Given the description of an element on the screen output the (x, y) to click on. 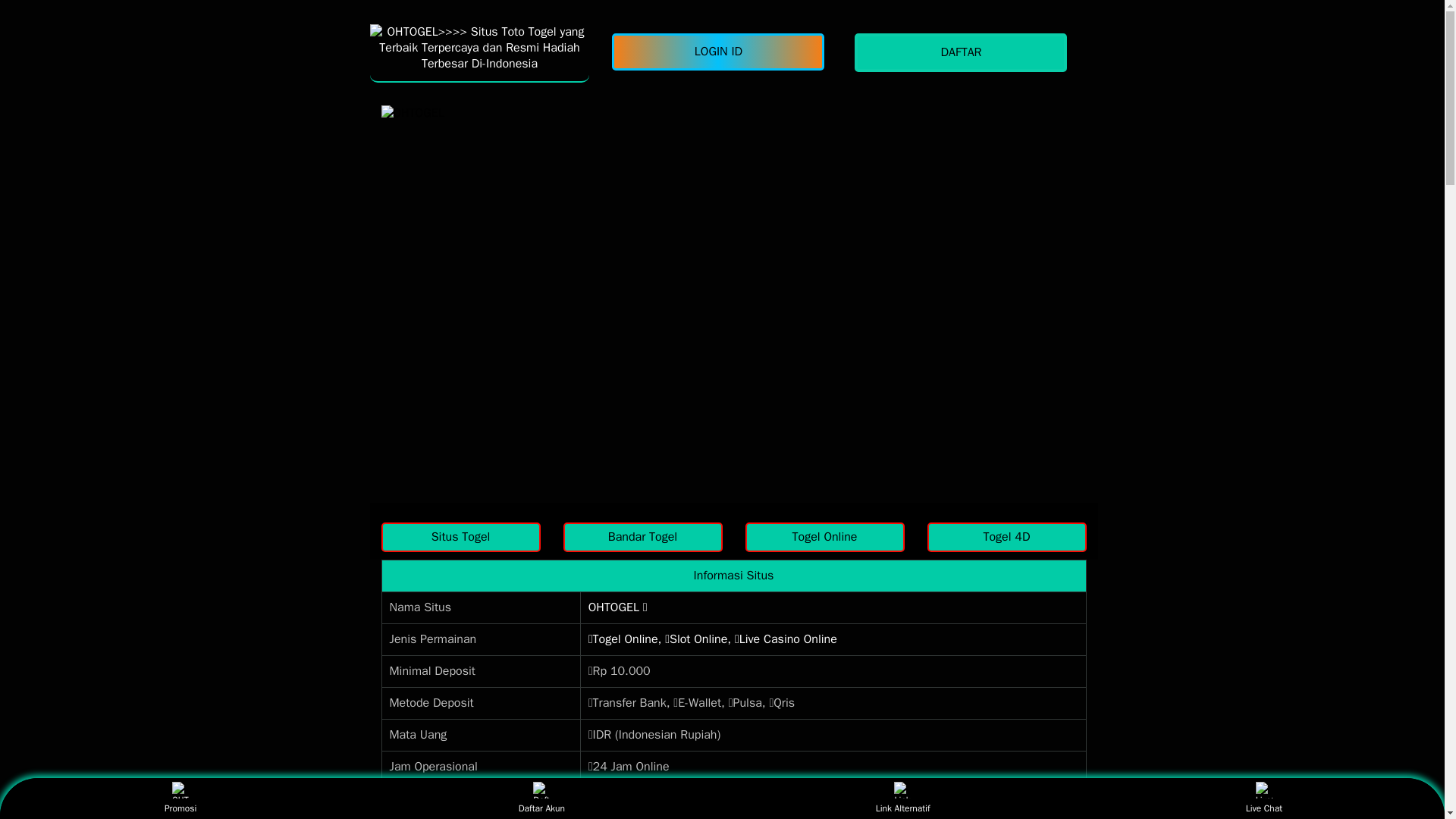
Bandar Togel (642, 537)
OHTOGEL (479, 52)
LOGIN ID (721, 51)
Situs Togel (460, 537)
Togel 4D (1006, 537)
Bandar Togel (642, 537)
Situs Togel (460, 537)
DAFTAR (964, 52)
Togel 4D (1006, 537)
Togel Online (824, 537)
